Given the description of an element on the screen output the (x, y) to click on. 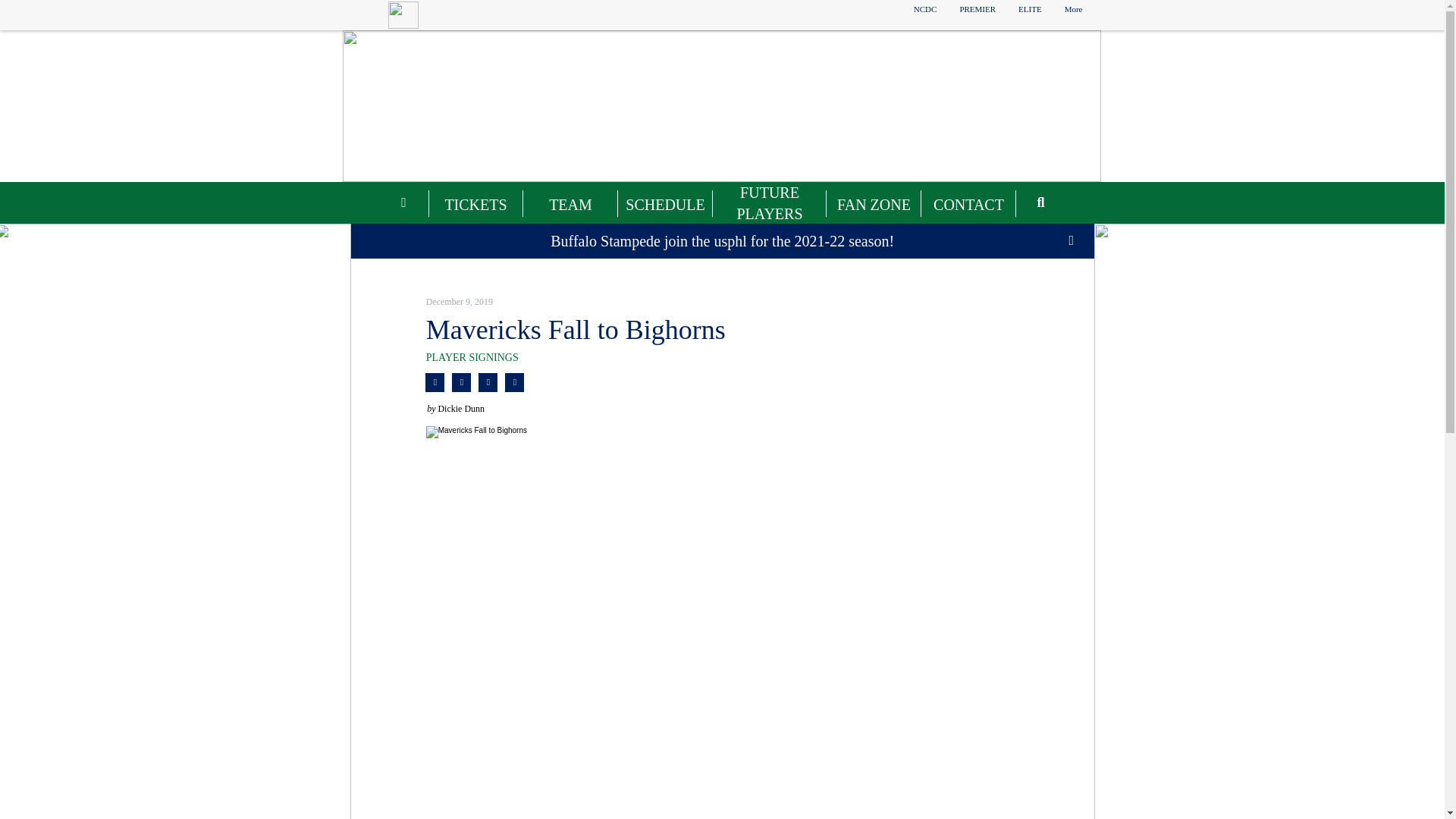
TEAM (569, 204)
TICKETS (475, 204)
CONTACT (968, 204)
